Given the description of an element on the screen output the (x, y) to click on. 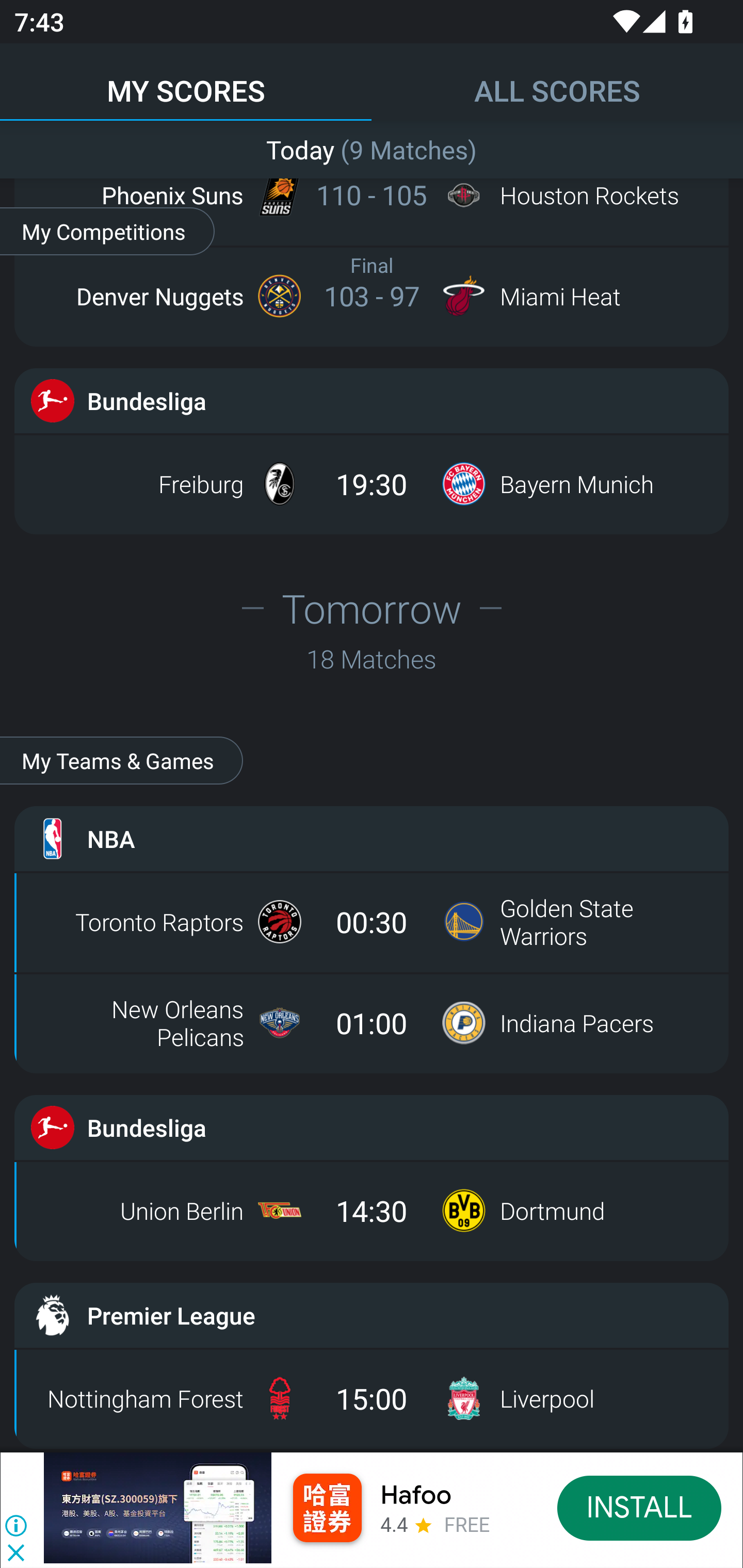
MY SCORES (185, 81)
ALL SCORES (557, 81)
Phoenix Suns Final 110 - 105 Houston Rockets (371, 195)
Denver Nuggets Final 103 - 97 Miami Heat (371, 296)
Bundesliga (371, 400)
Freiburg 19:30 Bayern Munich (371, 483)
NBA (371, 838)
Toronto Raptors 00:30 Golden State Warriors (371, 921)
New Orleans Pelicans 01:00 Indiana Pacers (371, 1023)
Bundesliga (371, 1127)
Union Berlin 14:30 Dortmund (371, 1210)
Premier League (371, 1315)
Nottingham Forest 15:00 Liverpool (371, 1398)
INSTALL (639, 1507)
Hafoo (416, 1494)
4.4 (393, 1523)
